Given the description of an element on the screen output the (x, y) to click on. 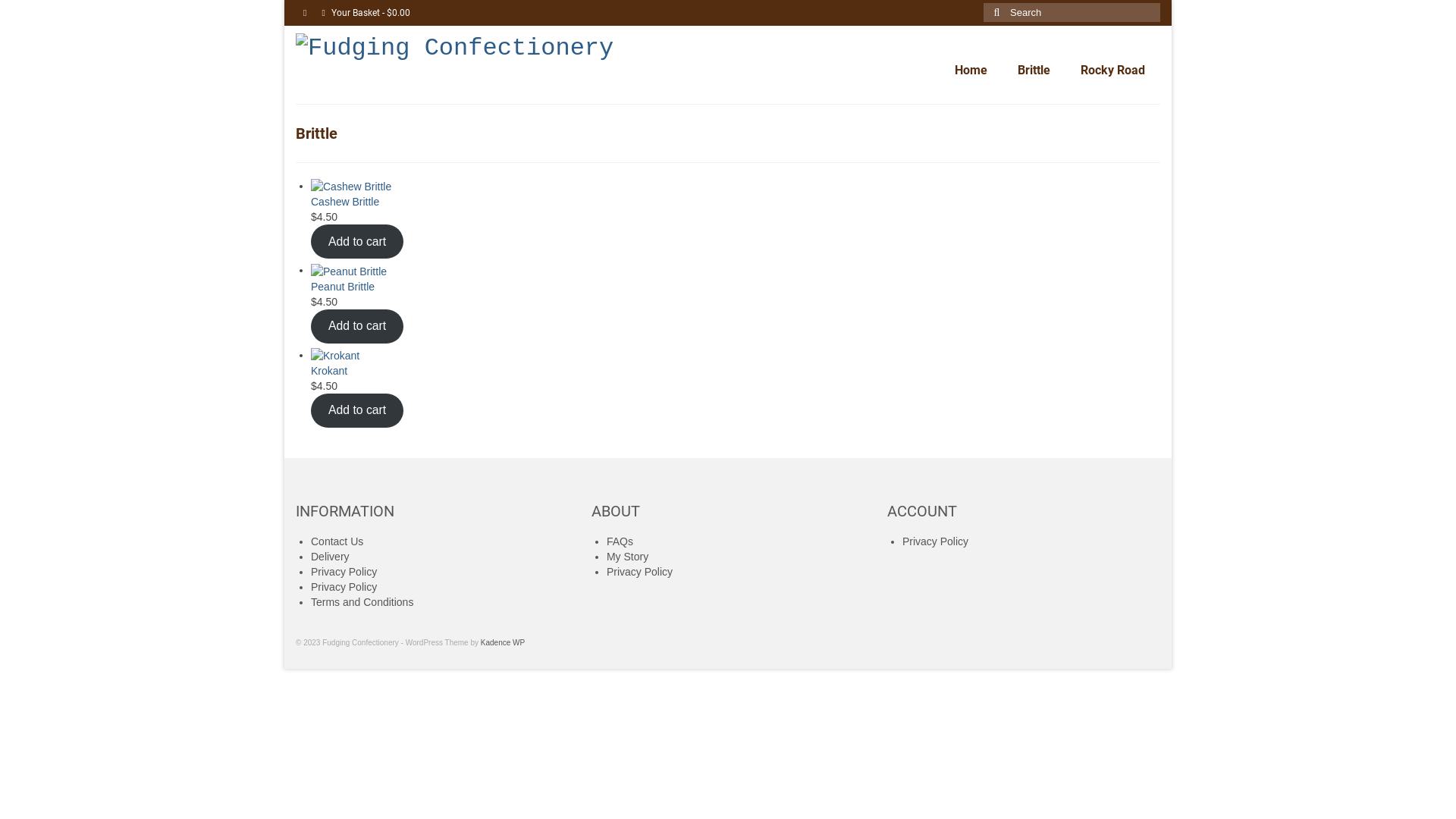
My Story Element type: text (627, 556)
FAQs Element type: text (619, 541)
Privacy Policy Element type: text (639, 571)
Privacy Policy Element type: text (343, 586)
Privacy Policy Element type: text (343, 571)
Rocky Road Element type: text (1112, 70)
Delivery Element type: text (329, 556)
Add to cart Element type: text (356, 326)
Add to cart Element type: text (356, 241)
Contact Us Element type: text (336, 541)
Cashew Brittle Element type: text (624, 193)
Krokant Element type: text (624, 362)
Add to cart Element type: text (356, 410)
Terms and Conditions Element type: text (361, 602)
Privacy Policy Element type: text (935, 541)
Kadence WP Element type: text (502, 642)
Your Basket - $0.00 Element type: text (365, 12)
Brittle Element type: text (1033, 70)
Home Element type: text (970, 70)
Peanut Brittle Element type: text (624, 277)
